Given the description of an element on the screen output the (x, y) to click on. 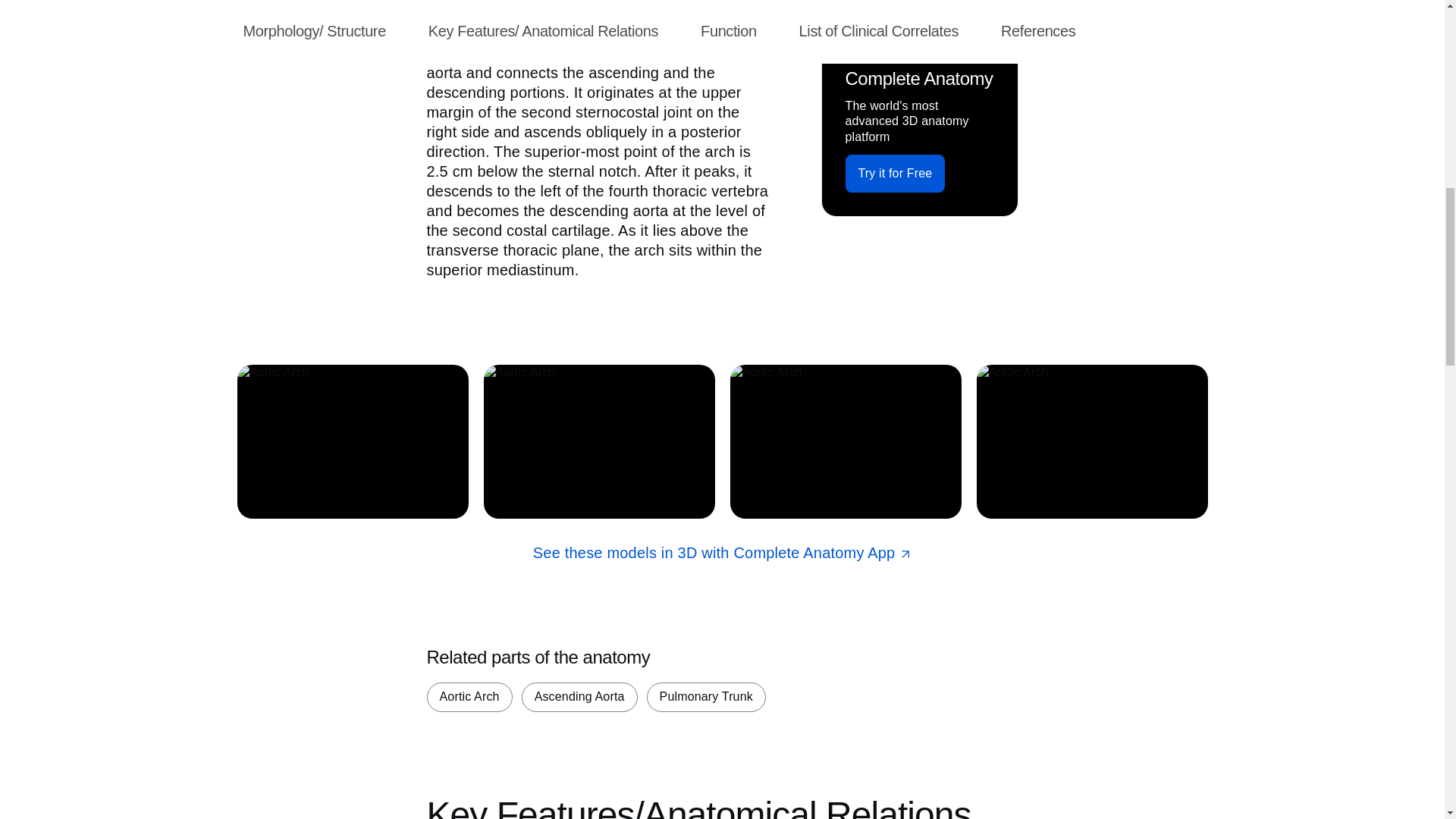
Try it for Free (894, 173)
Ascending Aorta (579, 696)
Aortic Arch (469, 696)
